Given the description of an element on the screen output the (x, y) to click on. 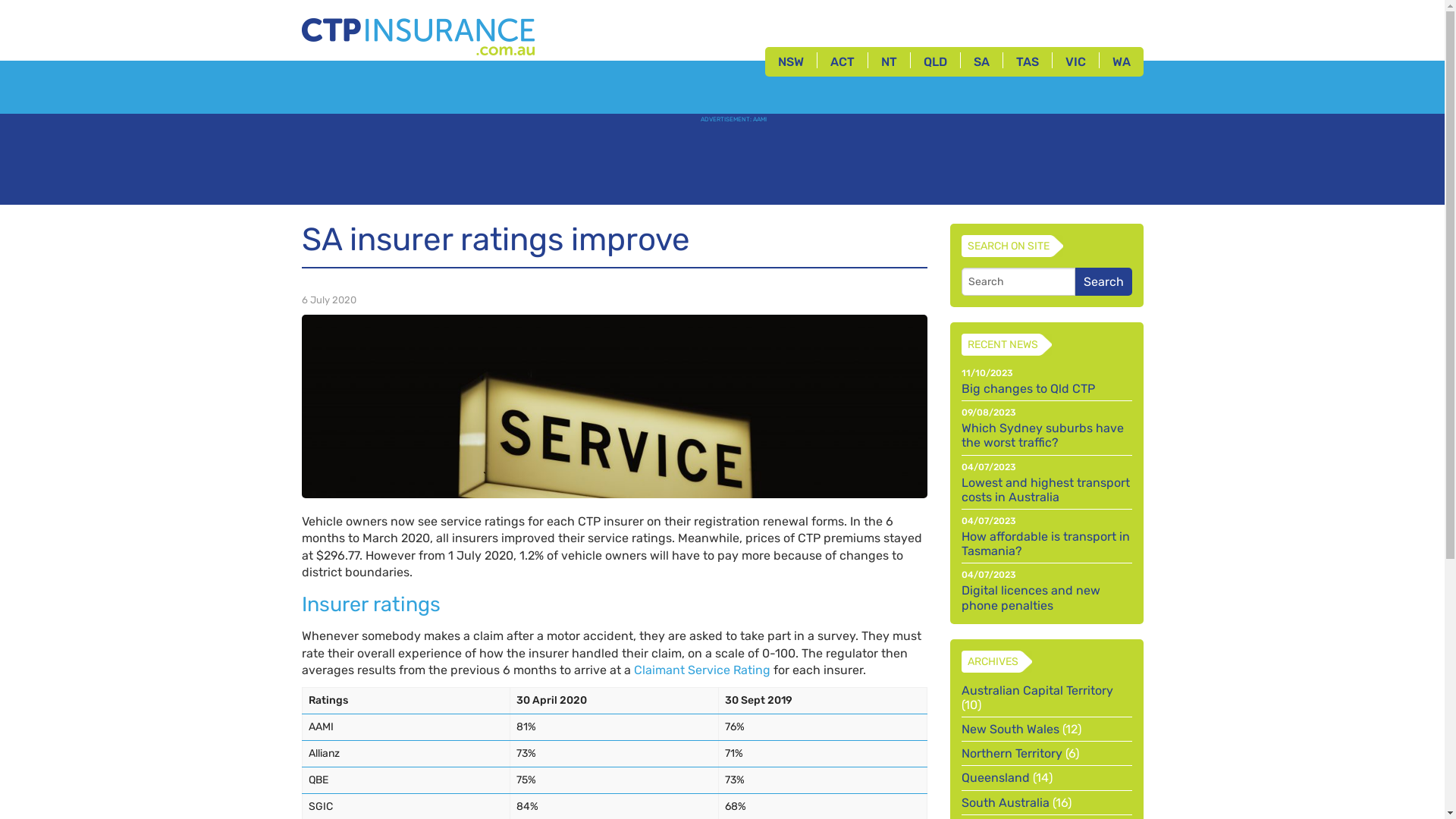
Queensland Element type: text (995, 777)
WA Element type: text (1121, 61)
QLD Element type: text (934, 61)
South Australia Element type: text (1005, 802)
VIC Element type: text (1075, 61)
Big changes to Qld CTP Element type: text (1046, 388)
Northern Territory Element type: text (1011, 753)
TAS Element type: text (1026, 61)
Australian Capital Territory Element type: text (1037, 690)
Digital licences and new phone penalties Element type: text (1046, 597)
SA Element type: text (980, 61)
NSW Element type: text (789, 61)
Search Element type: text (1103, 281)
Which Sydney suburbs have the worst traffic? Element type: text (1046, 434)
ACT Element type: text (842, 61)
Claimant Service Rating Element type: text (701, 669)
How affordable is transport in Tasmania? Element type: text (1046, 543)
NT Element type: text (888, 61)
New South Wales Element type: text (1010, 728)
CTP Insurance Element type: hover (417, 32)
Lowest and highest transport costs in Australia Element type: text (1046, 489)
